Given the description of an element on the screen output the (x, y) to click on. 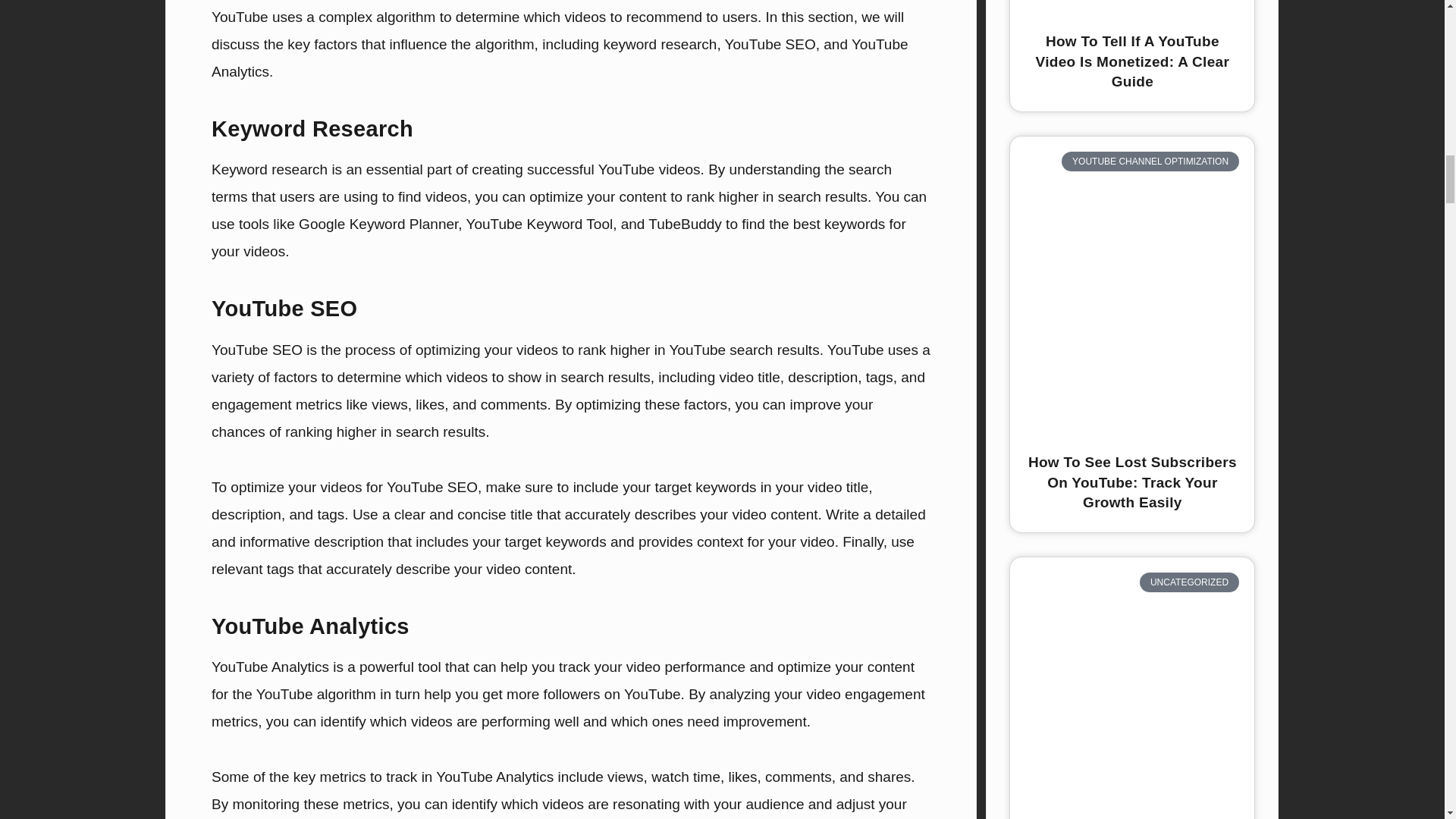
rank higher in search results (776, 196)
YouTube SEO (770, 44)
watch (669, 776)
YouTube Analytics (559, 57)
creating successful YouTube videos (585, 169)
optimizing your videos (485, 349)
watch (669, 776)
